Given the description of an element on the screen output the (x, y) to click on. 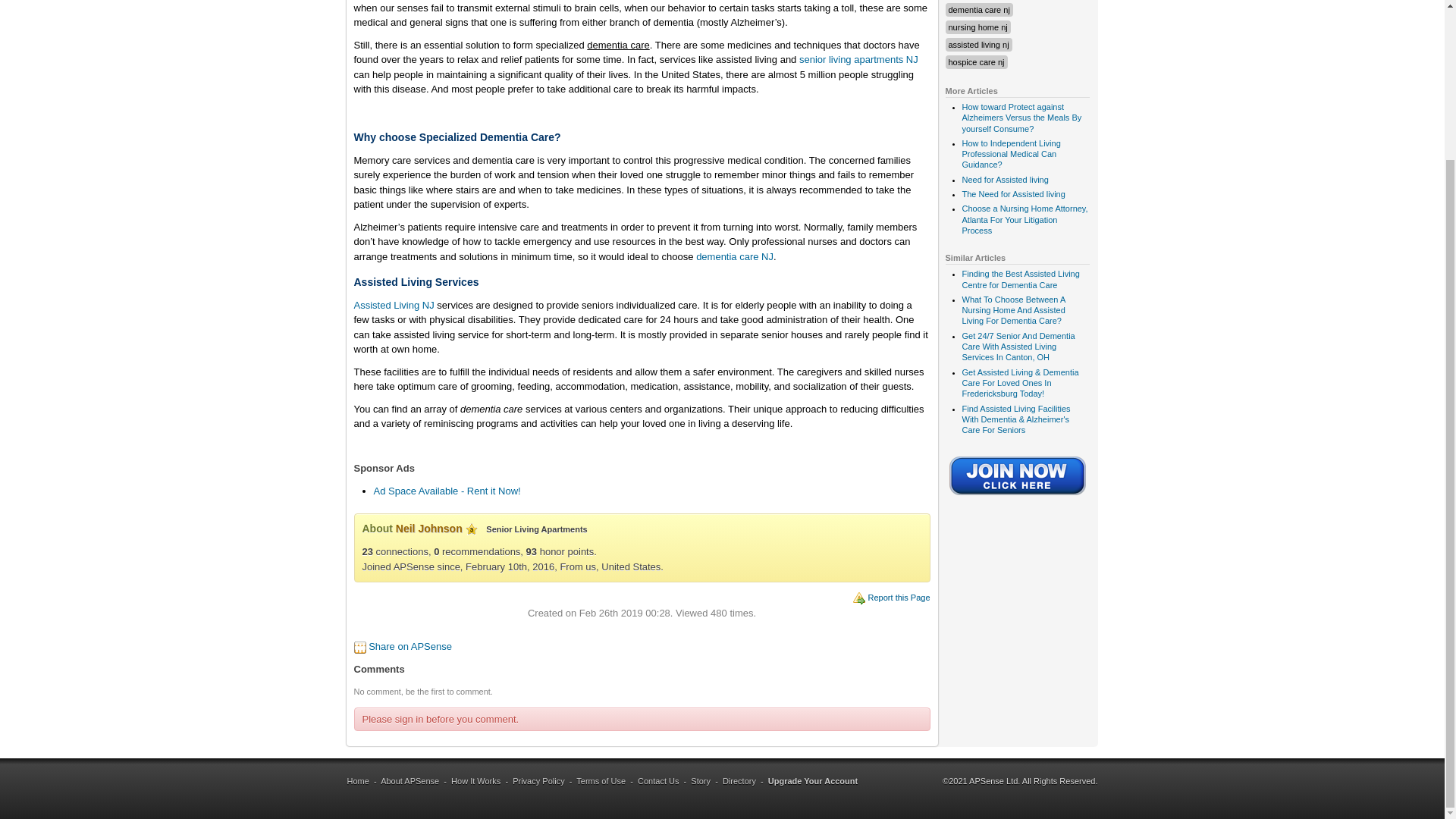
assisted living nj (978, 44)
Innovator (471, 529)
The Need for Assisted living (1012, 194)
Ad Space Available - Rent it Now! (445, 490)
senior living apartments NJ (858, 59)
Share on APSense (409, 645)
Report this Page (898, 596)
dementia care NJ (734, 256)
nursing home nj (977, 26)
Need for Assisted living (1004, 179)
Neil Johnson (429, 528)
